Given the description of an element on the screen output the (x, y) to click on. 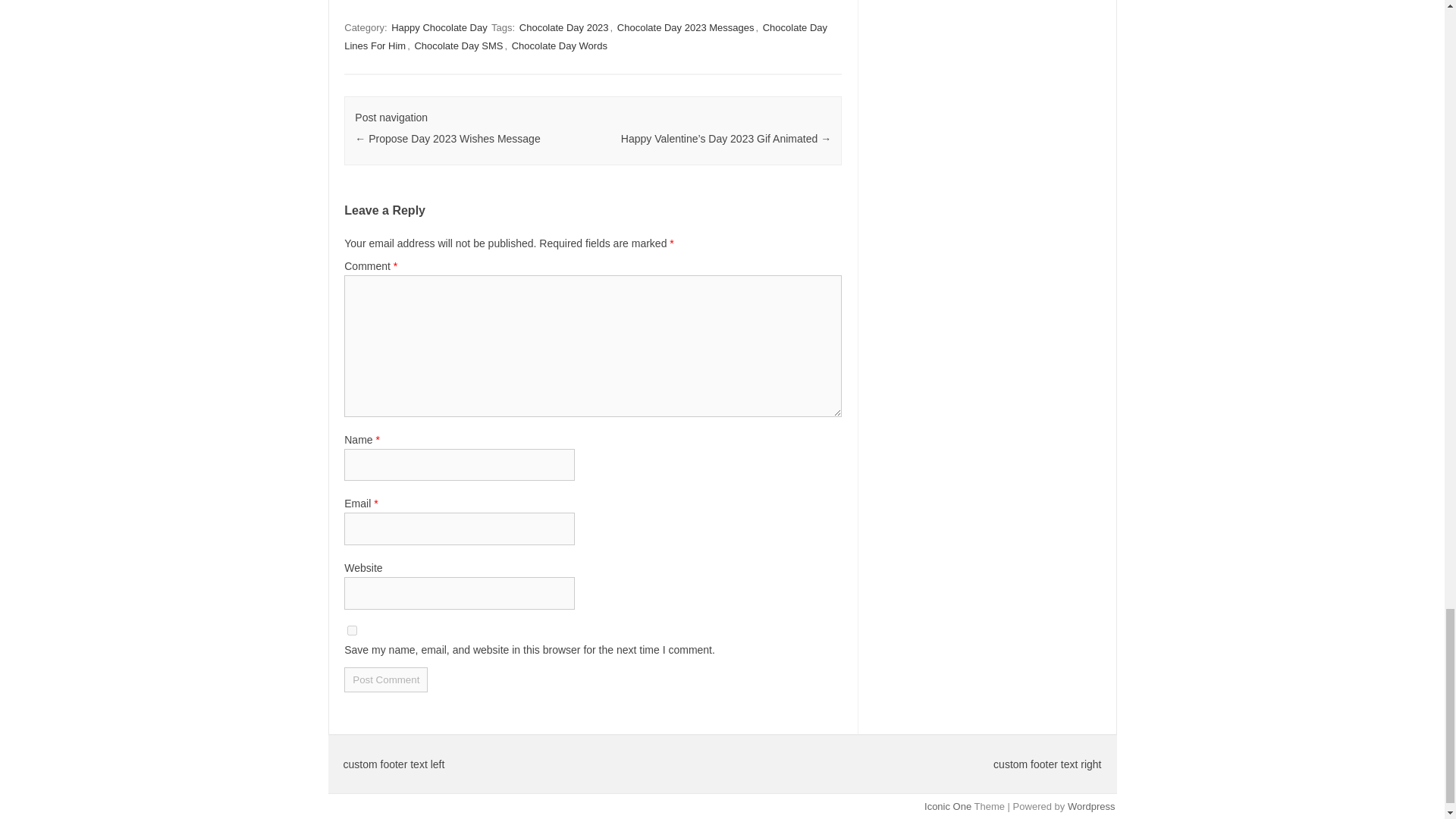
Chocolate Day 2023 (564, 27)
Chocolate Day Words (559, 45)
Post Comment (385, 679)
Chocolate Day SMS (457, 45)
Chocolate Day 2023 Messages (685, 27)
yes (351, 630)
Chocolate Day Lines For Him (585, 36)
Iconic One (947, 806)
Happy Chocolate Day (438, 27)
Wordpress (1091, 806)
Post Comment (385, 679)
